Given the description of an element on the screen output the (x, y) to click on. 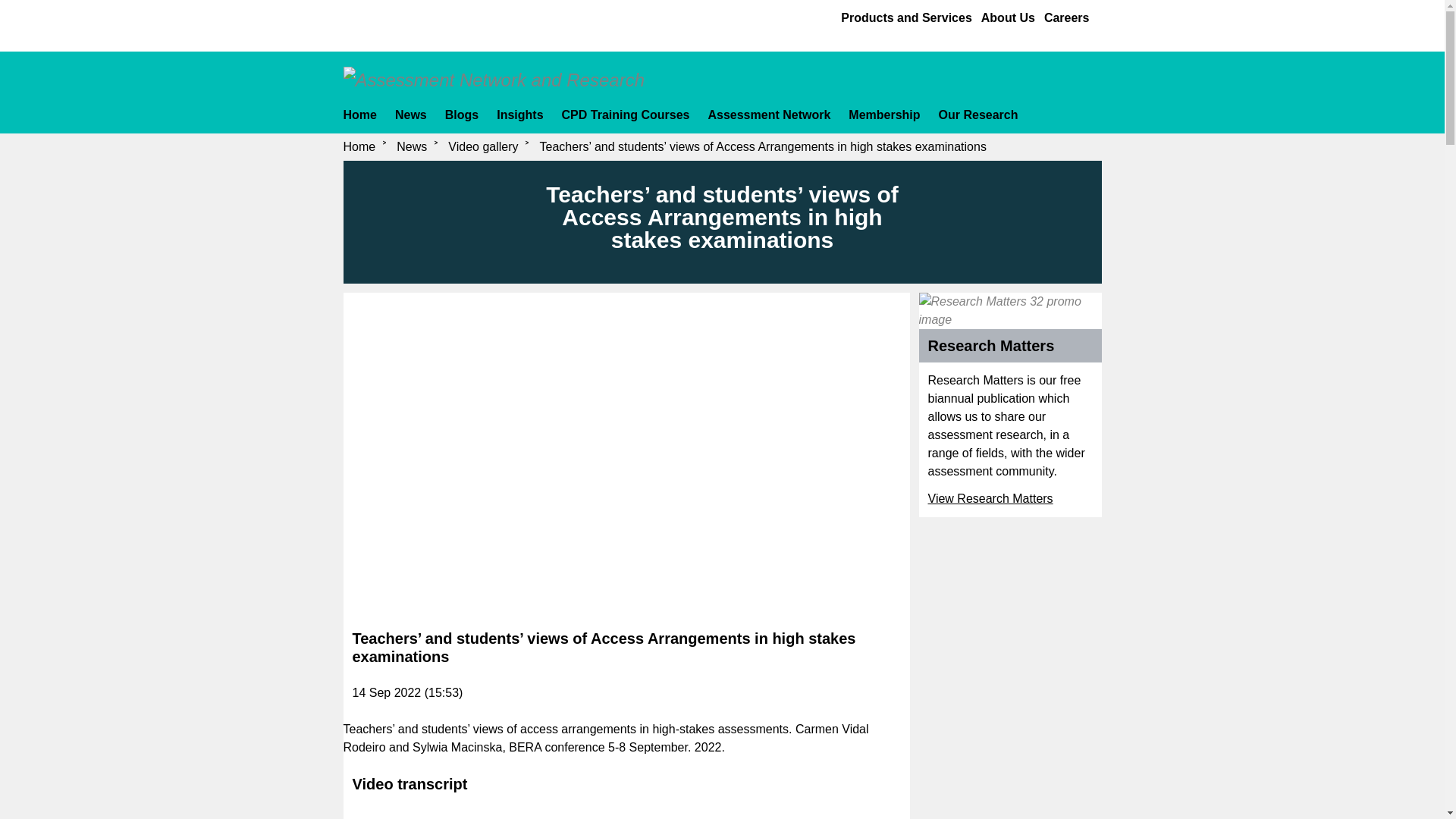
About Us (1008, 18)
Careers (1066, 18)
Cambridge (403, 22)
About Us (1008, 18)
Products and Services (906, 18)
Products and Services (906, 18)
